Given the description of an element on the screen output the (x, y) to click on. 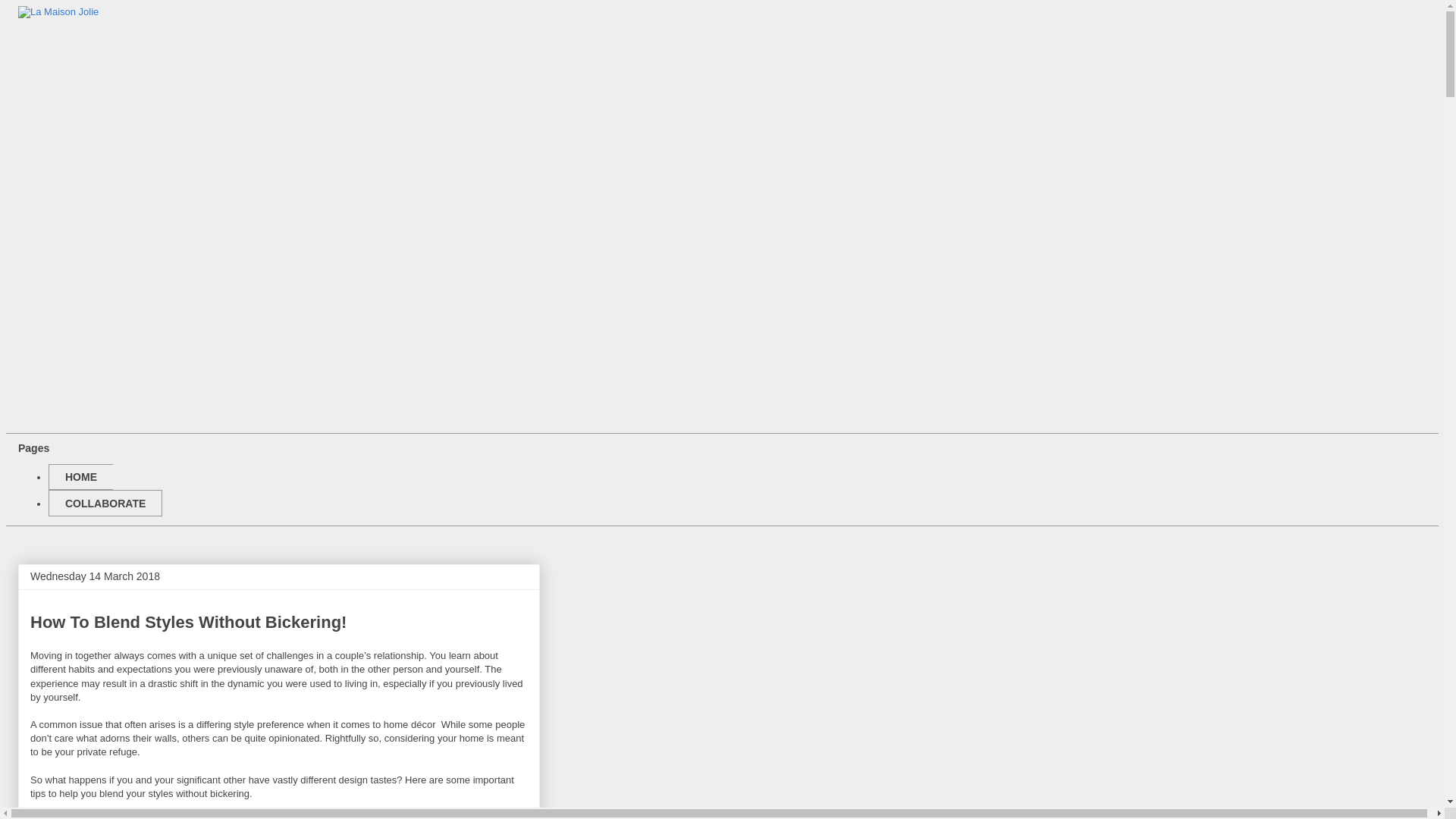
COLLABORATE Element type: text (105, 502)
HOME Element type: text (80, 477)
